Given the description of an element on the screen output the (x, y) to click on. 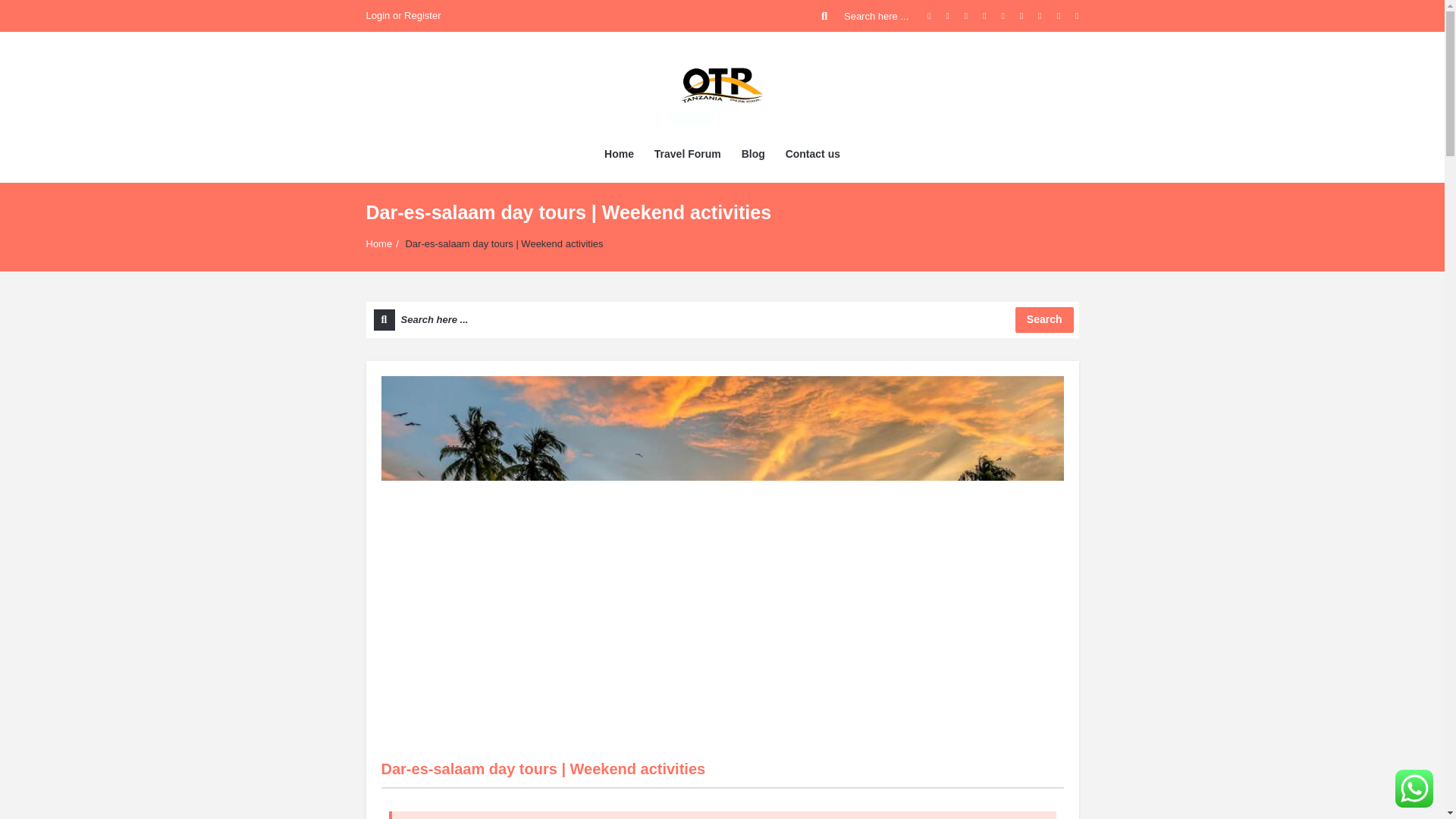
Search here ... (721, 320)
Tanzania Travel Guide  (721, 84)
Search here ... (721, 320)
Search here ... (866, 15)
Login or Register (403, 15)
Search here ... (866, 15)
